Given the description of an element on the screen output the (x, y) to click on. 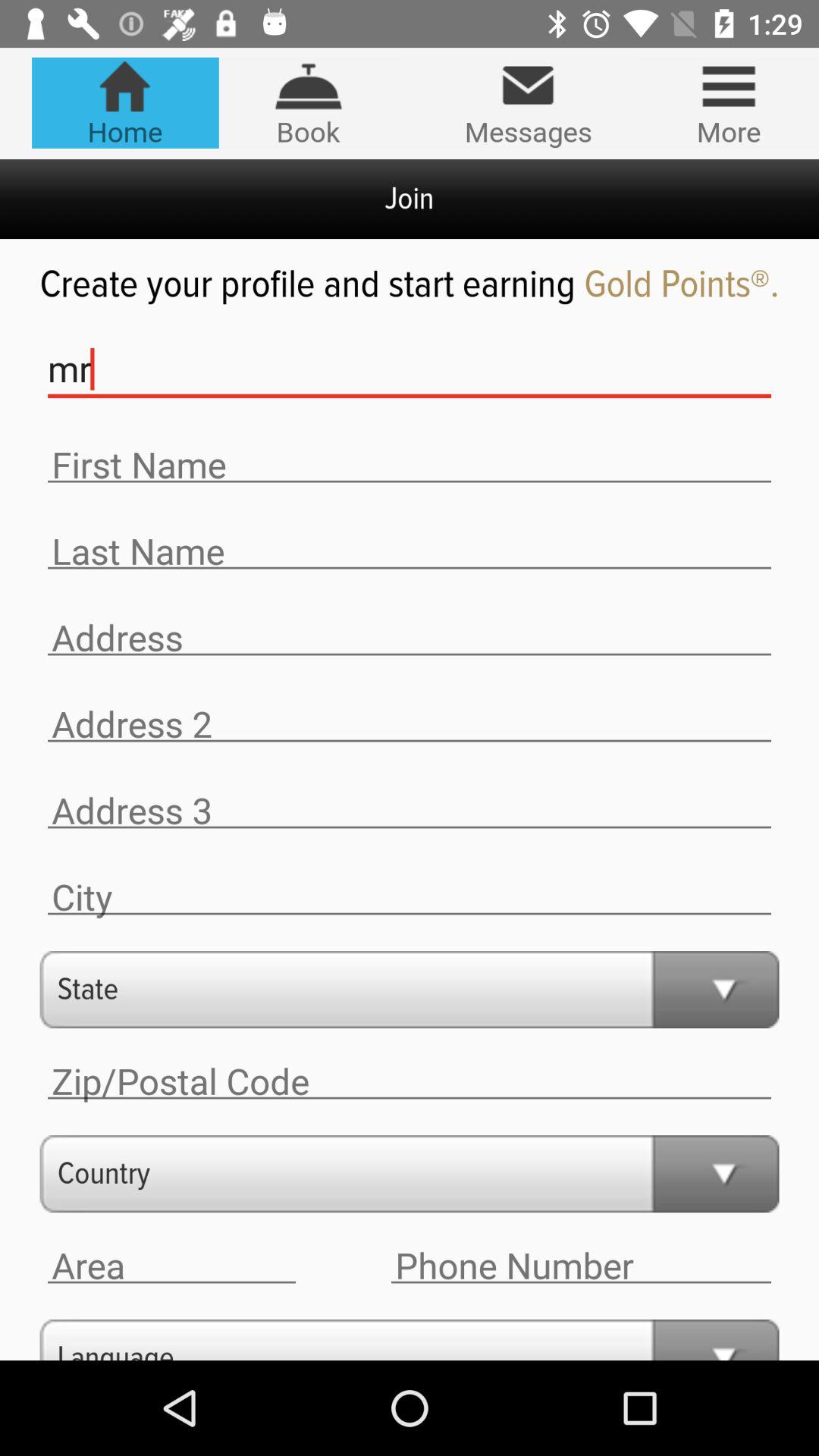
write address (409, 811)
